Given the description of an element on the screen output the (x, y) to click on. 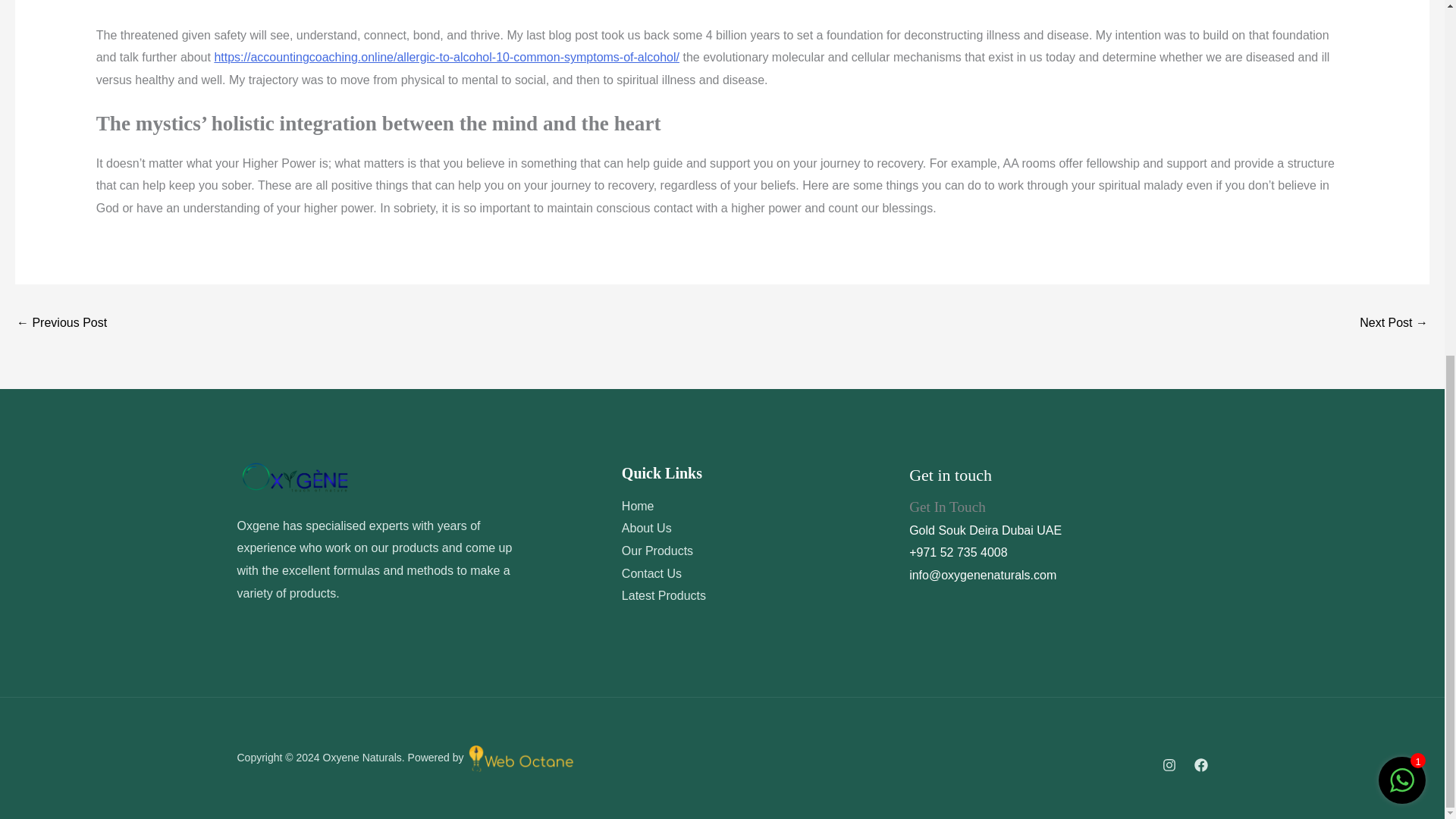
Our Products (657, 550)
Latest Products (663, 594)
Online Casino Games Play Now and Win Bi (1393, 324)
Contact Us (651, 573)
Home (637, 505)
About Us (646, 527)
1 (1401, 164)
